Given the description of an element on the screen output the (x, y) to click on. 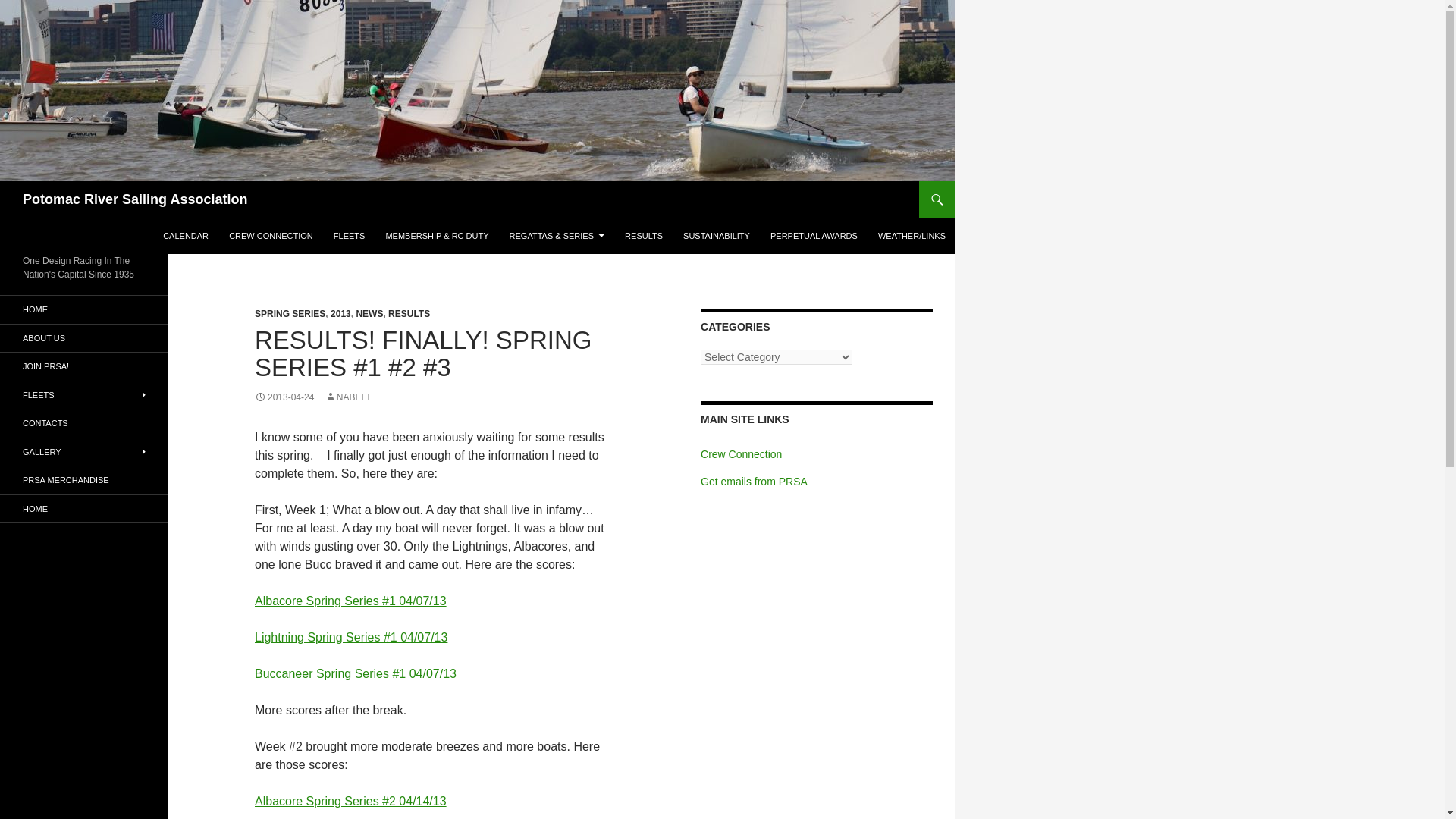
NABEEL (348, 397)
PERPETUAL AWARDS (813, 235)
Potomac River Sailing Association (135, 198)
How to get the PRSA email newsletter (754, 481)
RESULTS (643, 235)
RESULTS (408, 313)
SPRING SERIES (289, 313)
CALENDAR (185, 235)
CREW CONNECTION (270, 235)
SUSTAINABILITY (716, 235)
2013 (340, 313)
2013-04-24 (284, 397)
FLEETS (349, 235)
